Given the description of an element on the screen output the (x, y) to click on. 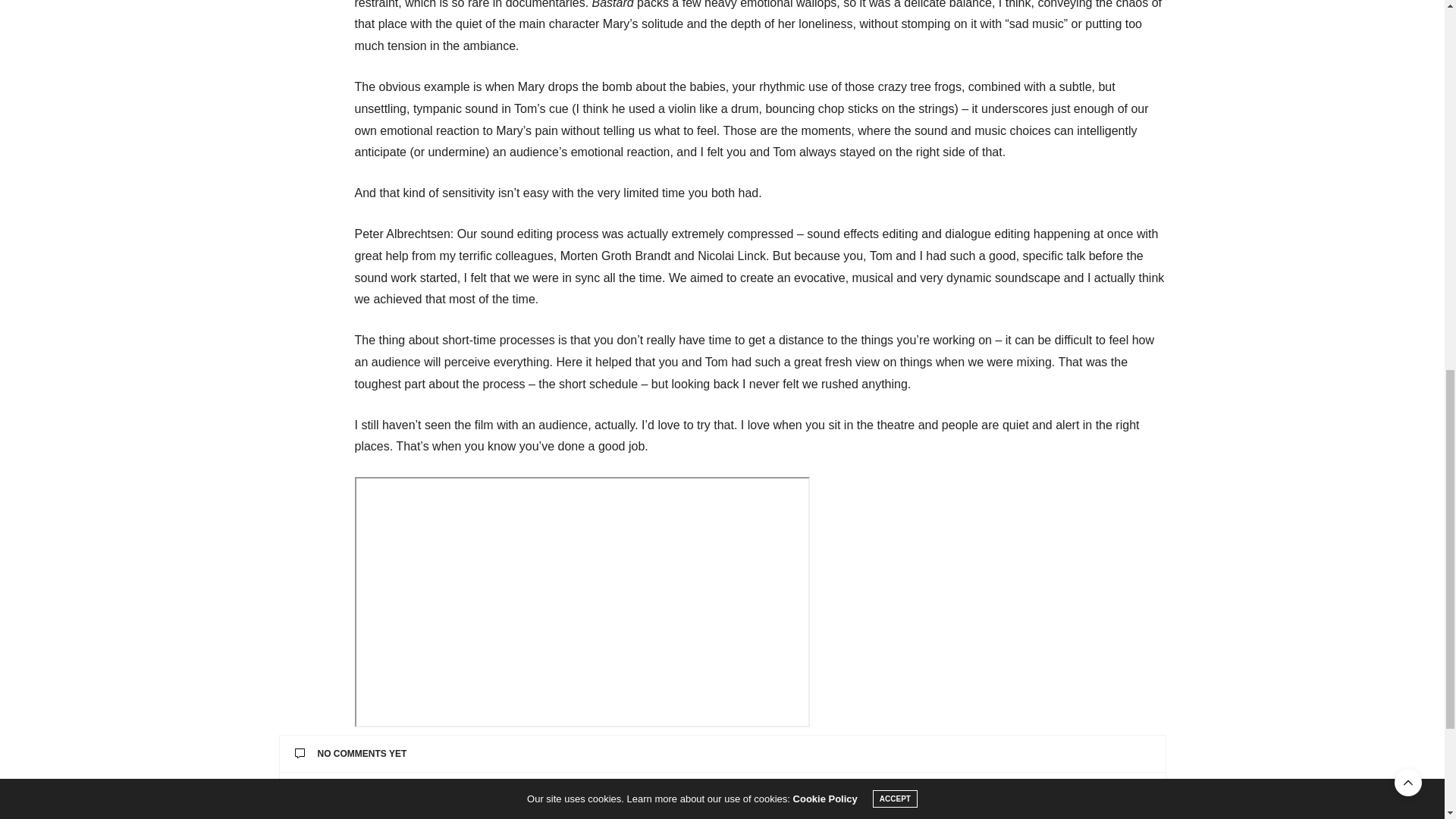
NO COMMENTS YET (721, 754)
